Given the description of an element on the screen output the (x, y) to click on. 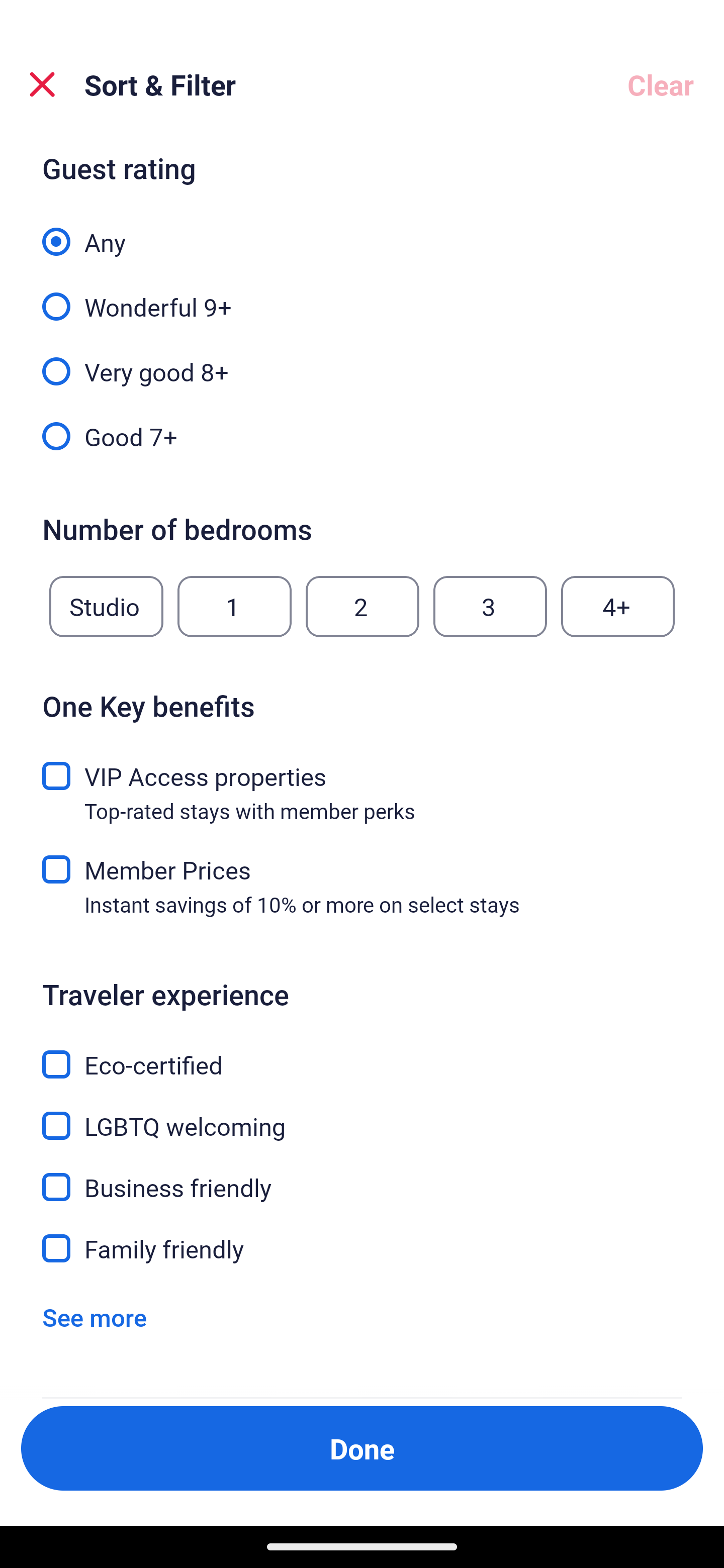
Close Sort and Filter (42, 84)
Clear (660, 84)
Wonderful 9+ (361, 295)
Very good 8+ (361, 360)
Good 7+ (361, 434)
Studio (106, 606)
1 (234, 606)
2 (362, 606)
3 (490, 606)
4+ (617, 606)
Eco-certified, Eco-certified (361, 1052)
LGBTQ welcoming, LGBTQ welcoming (361, 1113)
Business friendly, Business friendly (361, 1175)
Family friendly, Family friendly (361, 1248)
See more See more traveler experience options Link (93, 1316)
Apply and close Sort and Filter Done (361, 1448)
